Given the description of an element on the screen output the (x, y) to click on. 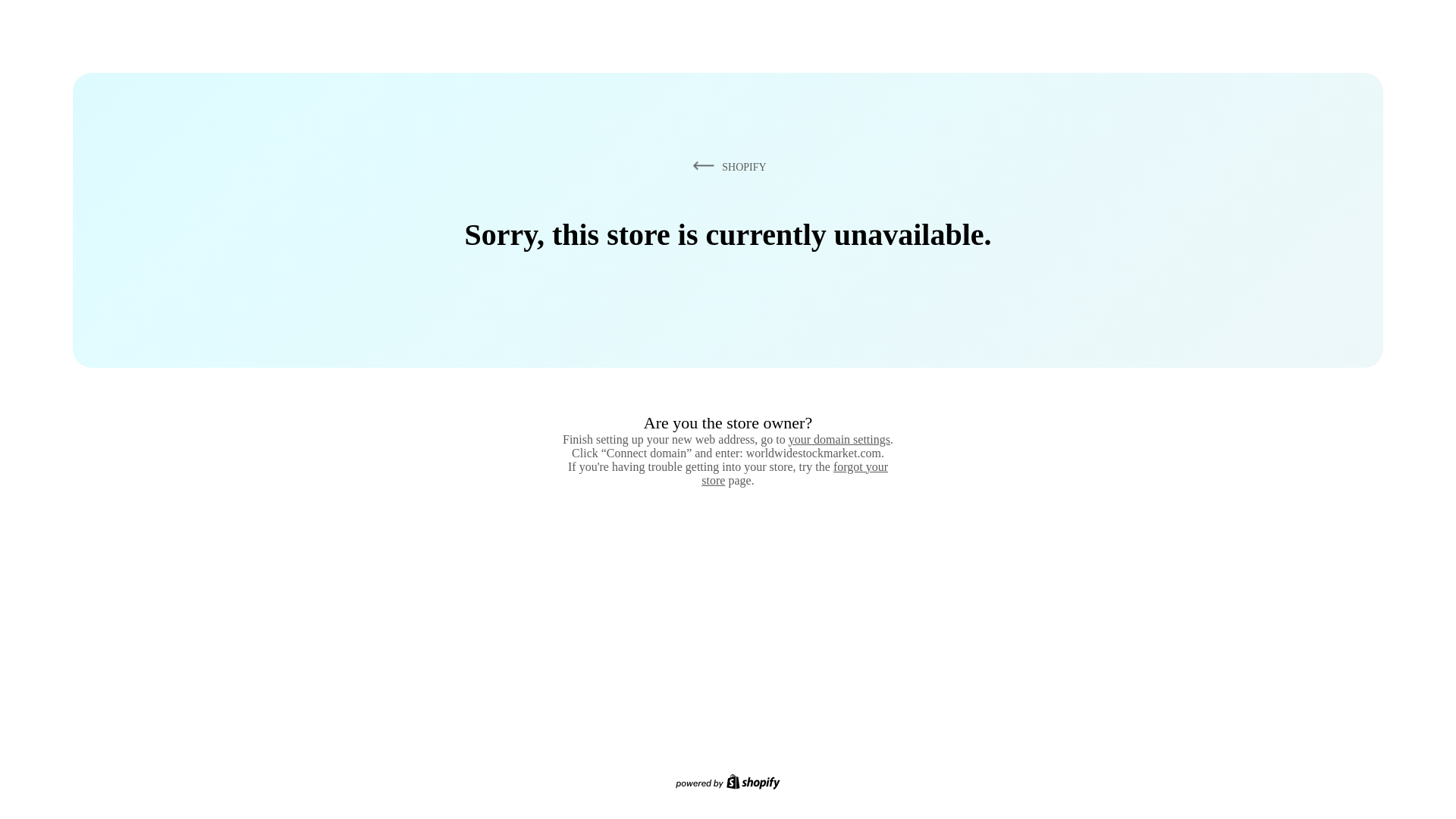
forgot your store (794, 473)
SHOPIFY (726, 166)
your domain settings (839, 439)
